Given the description of an element on the screen output the (x, y) to click on. 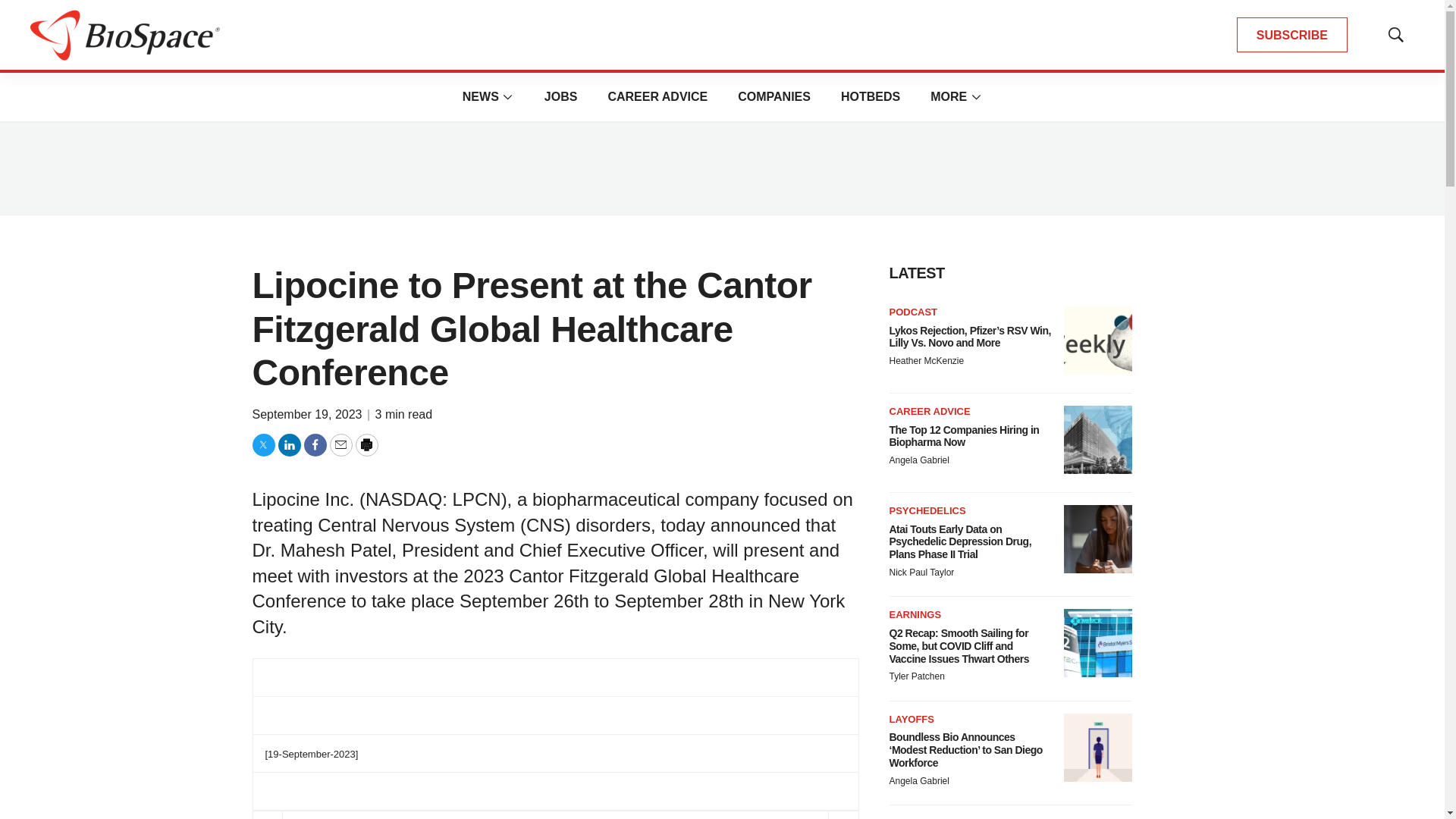
Show Search (1395, 34)
NEWS (481, 96)
3rd party ad content (721, 168)
SUBSCRIBE (1292, 34)
